Given the description of an element on the screen output the (x, y) to click on. 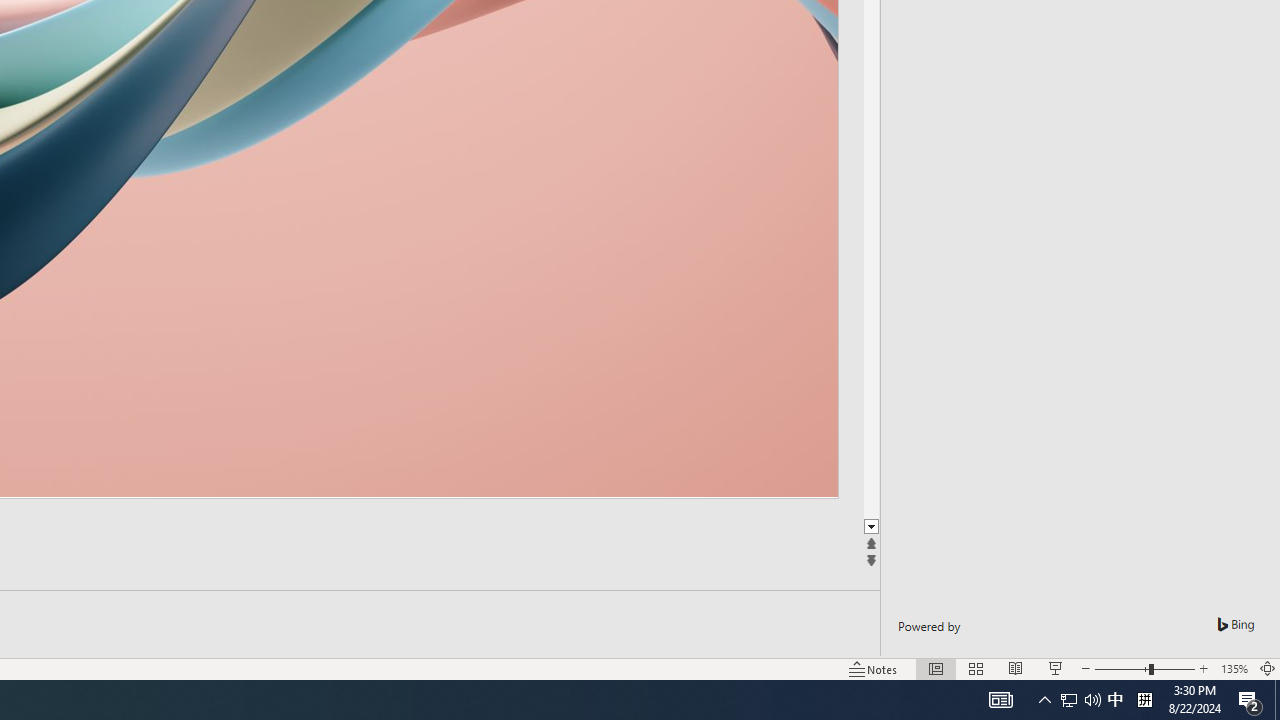
Zoom 135% (1234, 668)
